Given the description of an element on the screen output the (x, y) to click on. 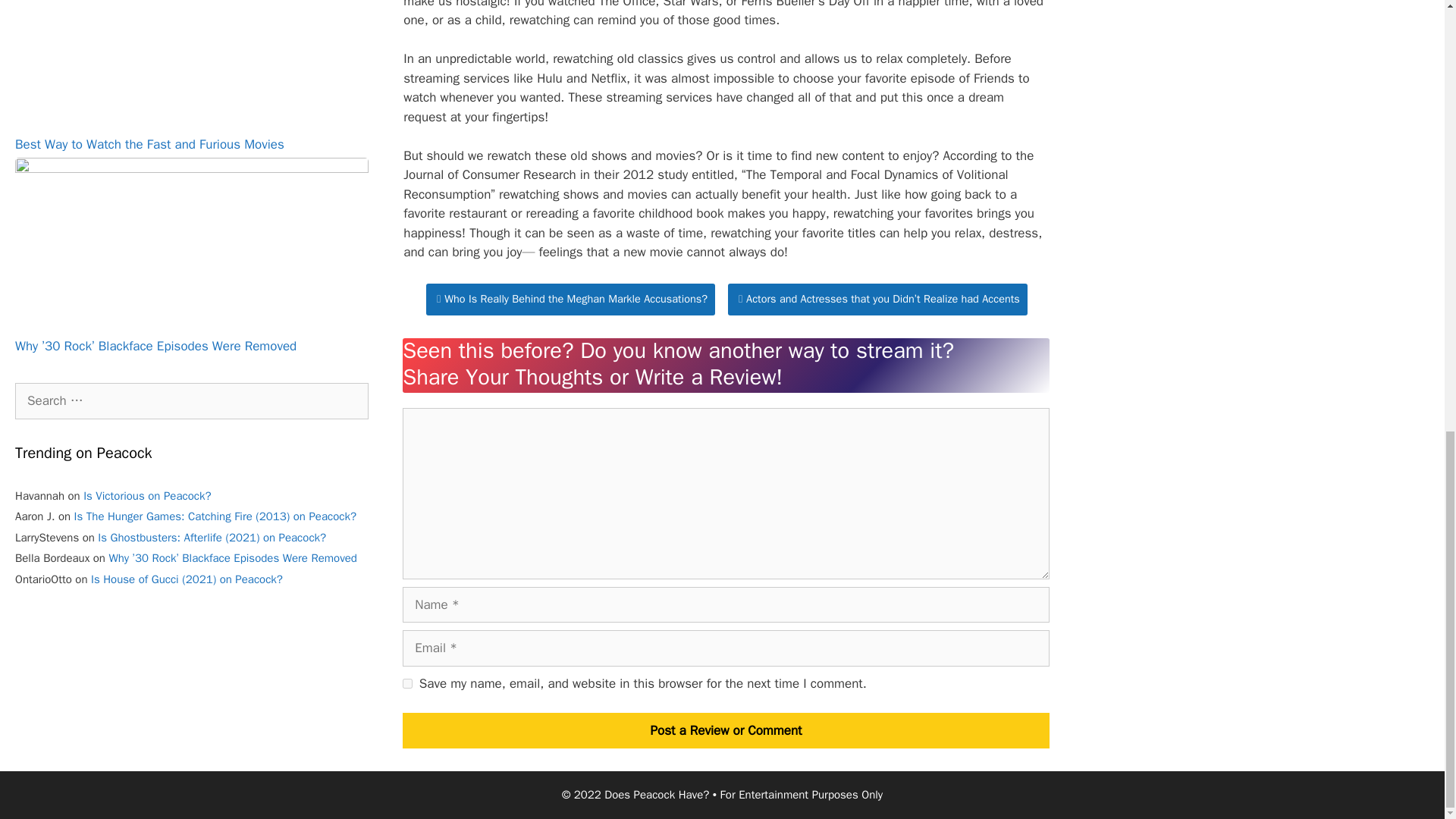
Scroll back to top (1406, 625)
yes (407, 683)
Search for: (191, 401)
Post a Review or Comment (726, 730)
